Given the description of an element on the screen output the (x, y) to click on. 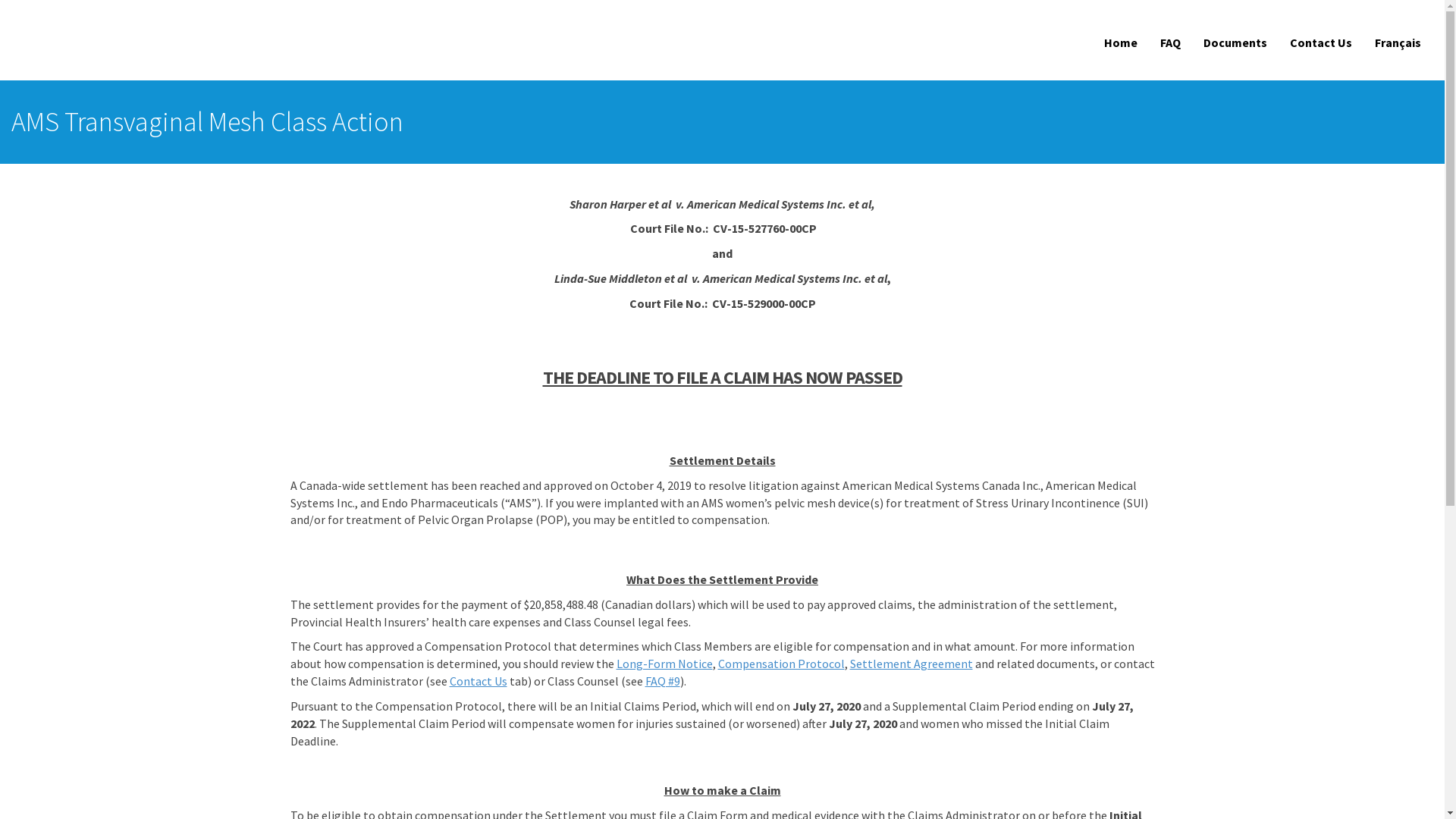
Contact Us Element type: text (1320, 42)
Settlement Agreement Element type: text (910, 663)
FAQ Element type: text (1170, 42)
Documents Element type: text (1235, 42)
Contact Us Element type: text (477, 680)
Compensation Protocol Element type: text (780, 663)
Long-Form Notice Element type: text (663, 663)
FAQ #9 Element type: text (661, 680)
Home Element type: text (1120, 42)
